Given the description of an element on the screen output the (x, y) to click on. 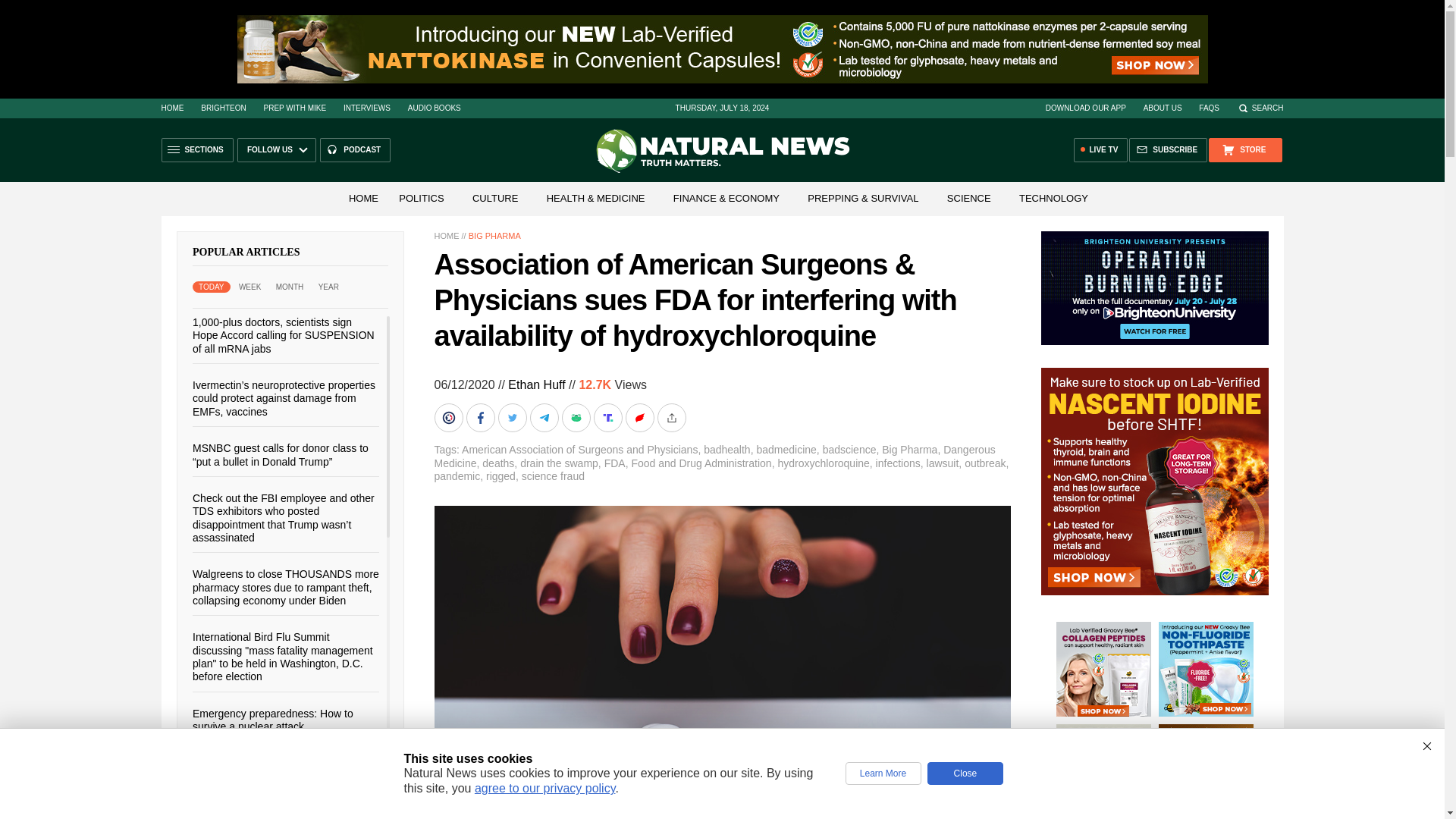
INTERVIEWS (366, 108)
AUDIO BOOKS (434, 108)
SCIENCE (968, 197)
ABOUT US (1162, 108)
STORE (1244, 150)
DOWNLOAD OUR APP (1085, 108)
SUBSCRIBE (1168, 150)
POLITICS (421, 197)
More Share Options (672, 417)
Share on Twitter (513, 417)
SEARCH (1260, 108)
CULTURE (495, 197)
Search (1260, 108)
Emergency preparedness: How to survive a nuclear attack (272, 719)
